Given the description of an element on the screen output the (x, y) to click on. 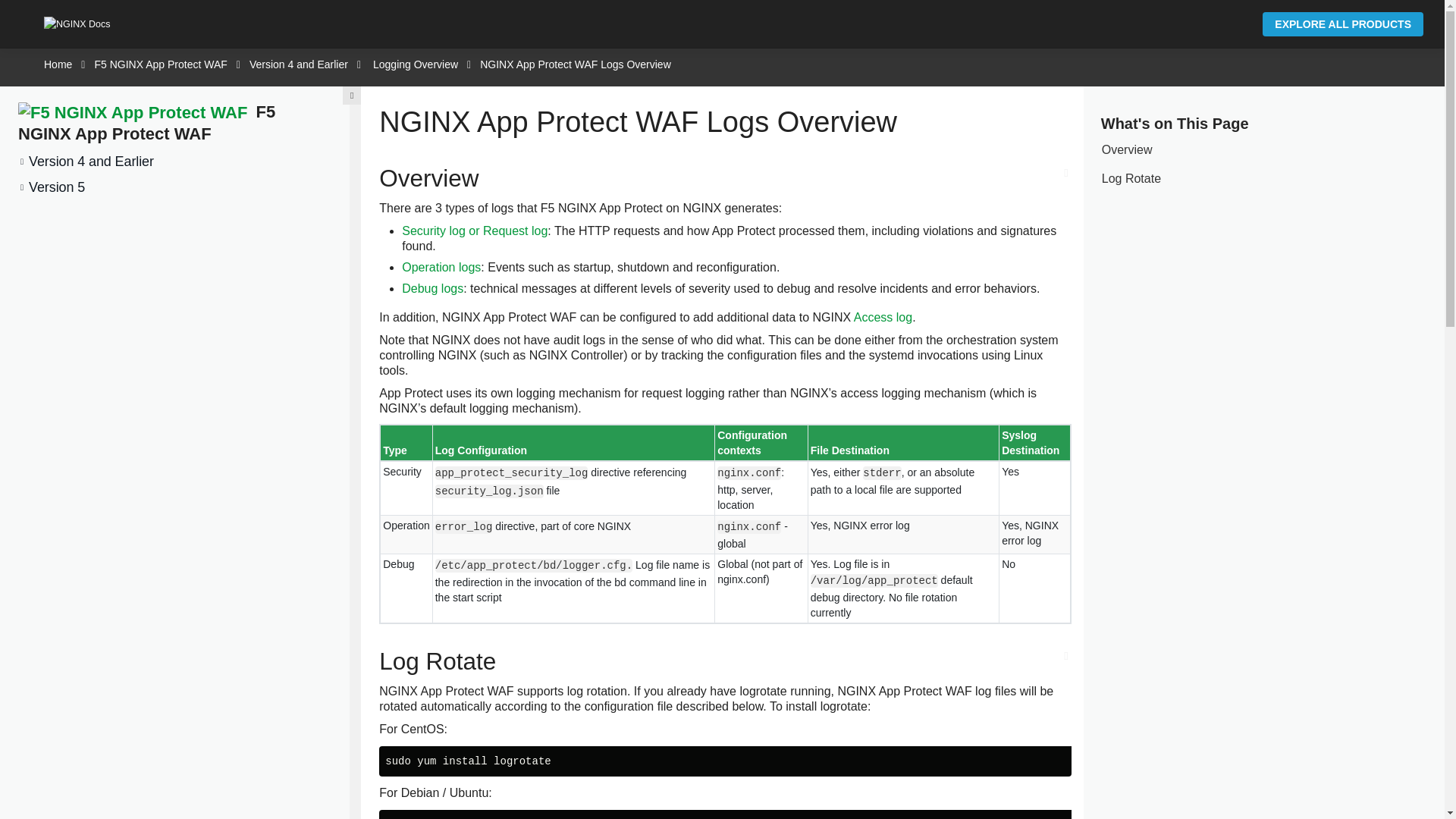
Version 4 and Earlier (298, 64)
F5 NGINX App Protect WAF (160, 64)
EXPLORE ALL PRODUCTS (1342, 23)
F5 NGINX App Protect WAF (146, 122)
Logging Overview (415, 64)
EXPLORE ALL PRODUCTS (1342, 24)
Version 4 and Earlier (85, 160)
Toggle sidebar navigation (351, 95)
Home (57, 64)
